Given the description of an element on the screen output the (x, y) to click on. 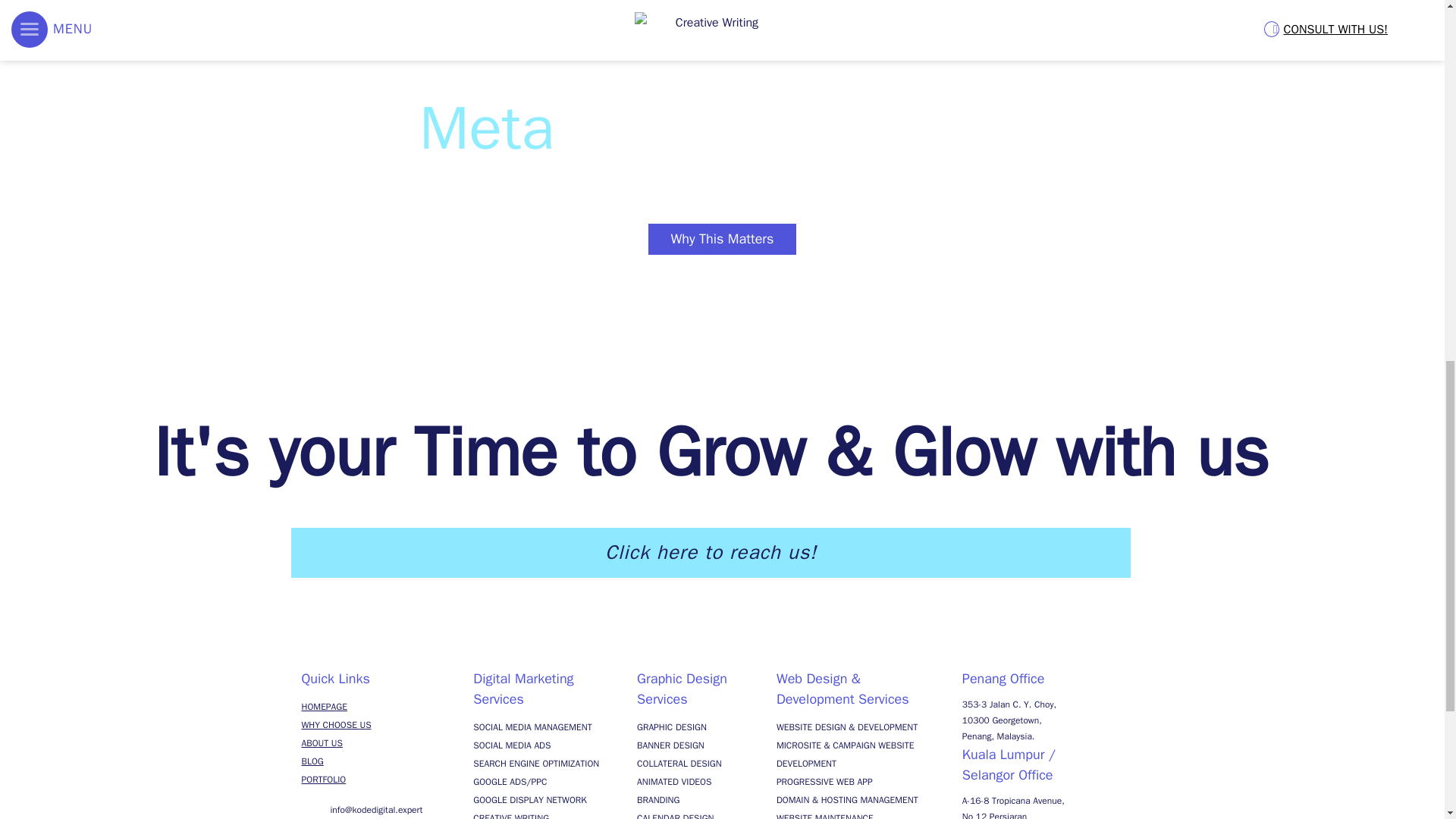
Click here to reach us! (711, 552)
GRAPHIC DESIGN (671, 727)
CREATIVE WRITING (510, 815)
CALENDAR DESIGN (675, 815)
ANIMATED VIDEOS (674, 781)
BANNER DESIGN (670, 745)
COLLATERAL DESIGN (679, 763)
BRANDING (658, 799)
ABOUT US (321, 743)
PORTFOLIO (323, 779)
SEARCH ENGINE OPTIMIZATION (535, 763)
SOCIAL MEDIA MANAGEMENT (532, 727)
GOOGLE DISPLAY NETWORK (529, 799)
BLOG (312, 761)
WHY CHOOSE US (336, 725)
